Given the description of an element on the screen output the (x, y) to click on. 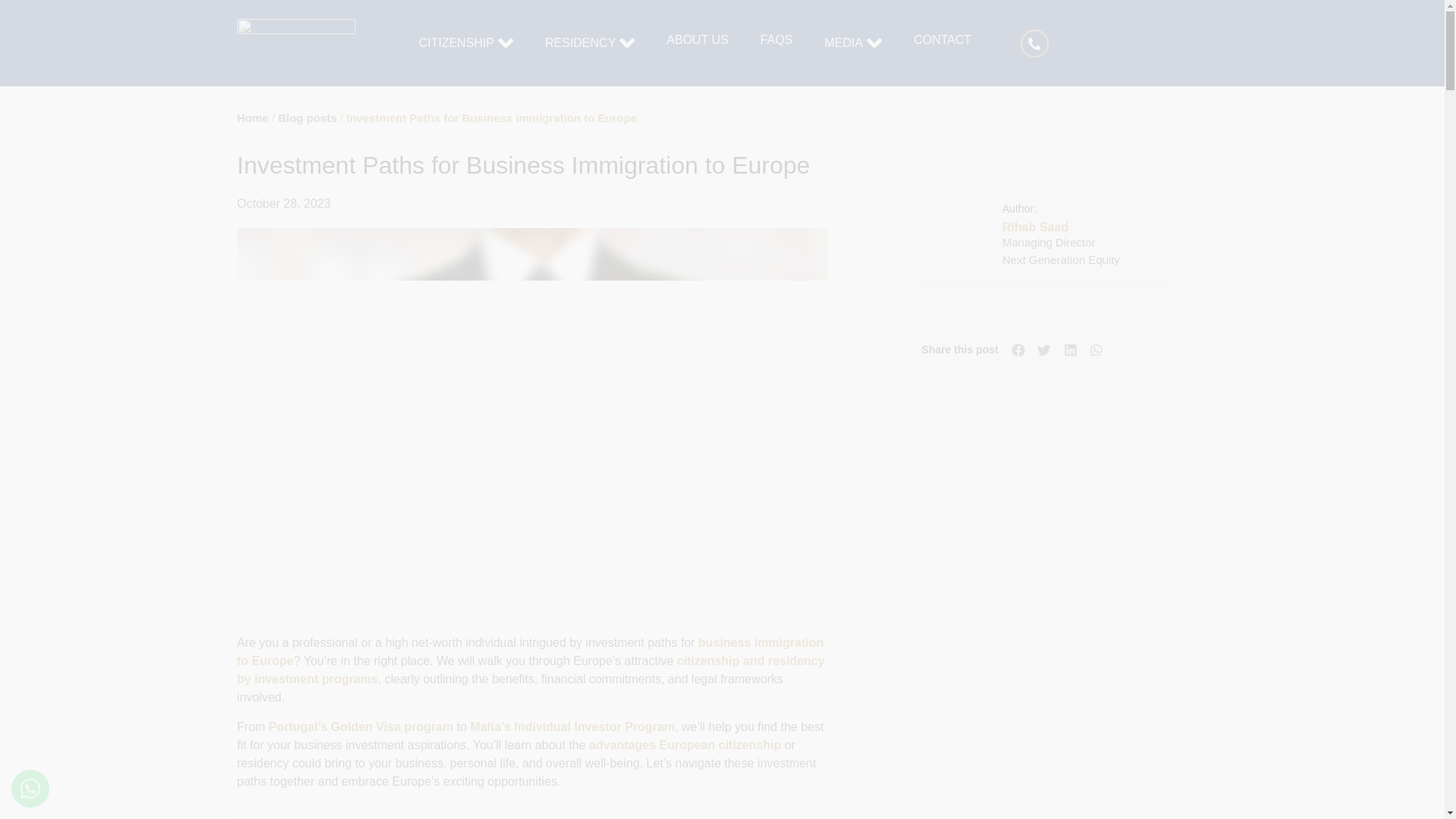
FAQS (776, 40)
CITIZENSHIP (457, 43)
MEDIA (843, 43)
RESIDENCY (579, 43)
ABOUT US (697, 40)
